Given the description of an element on the screen output the (x, y) to click on. 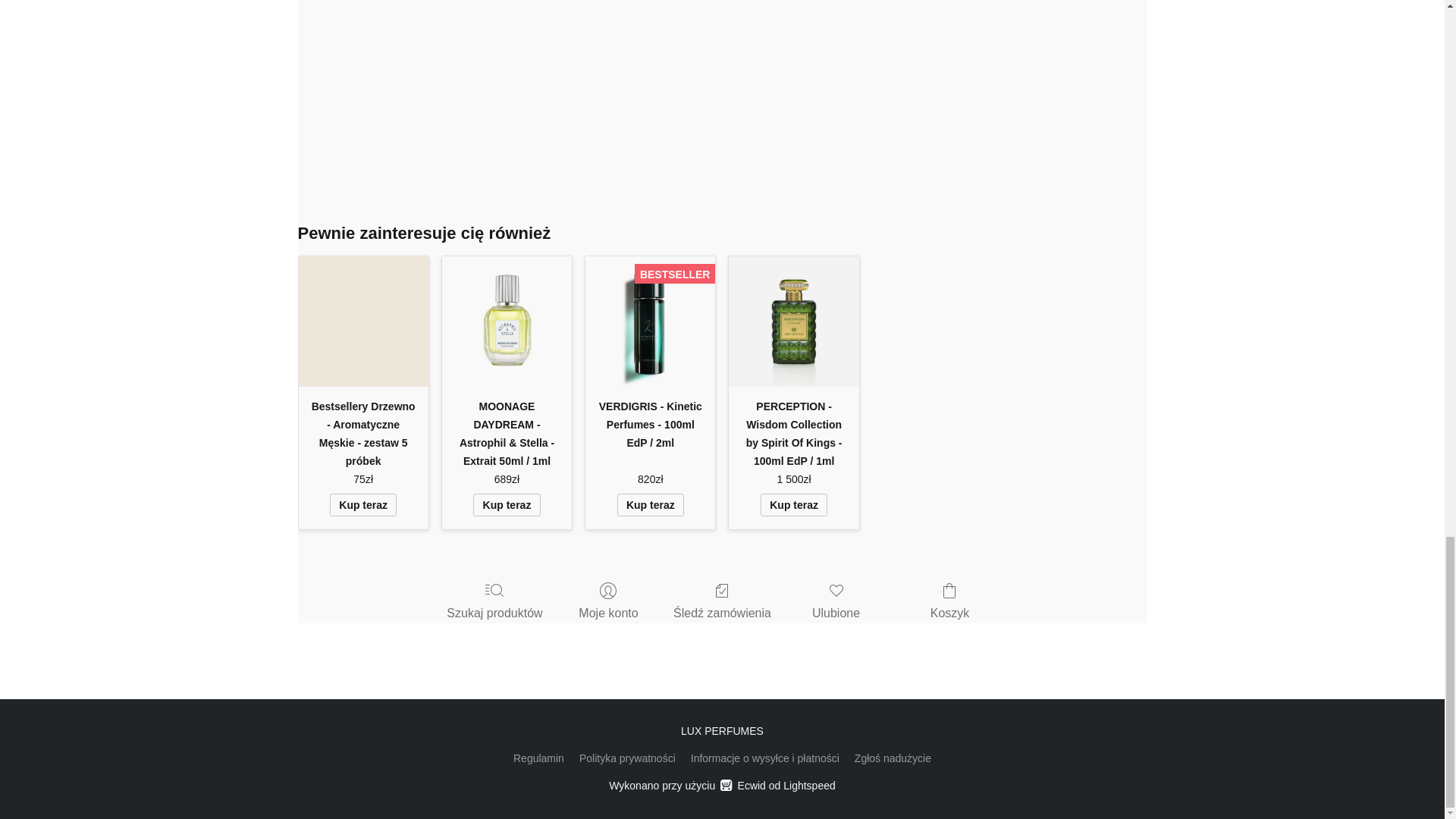
Kup teraz (506, 504)
Kup teraz (363, 504)
BESTSELLER (649, 320)
